Given the description of an element on the screen output the (x, y) to click on. 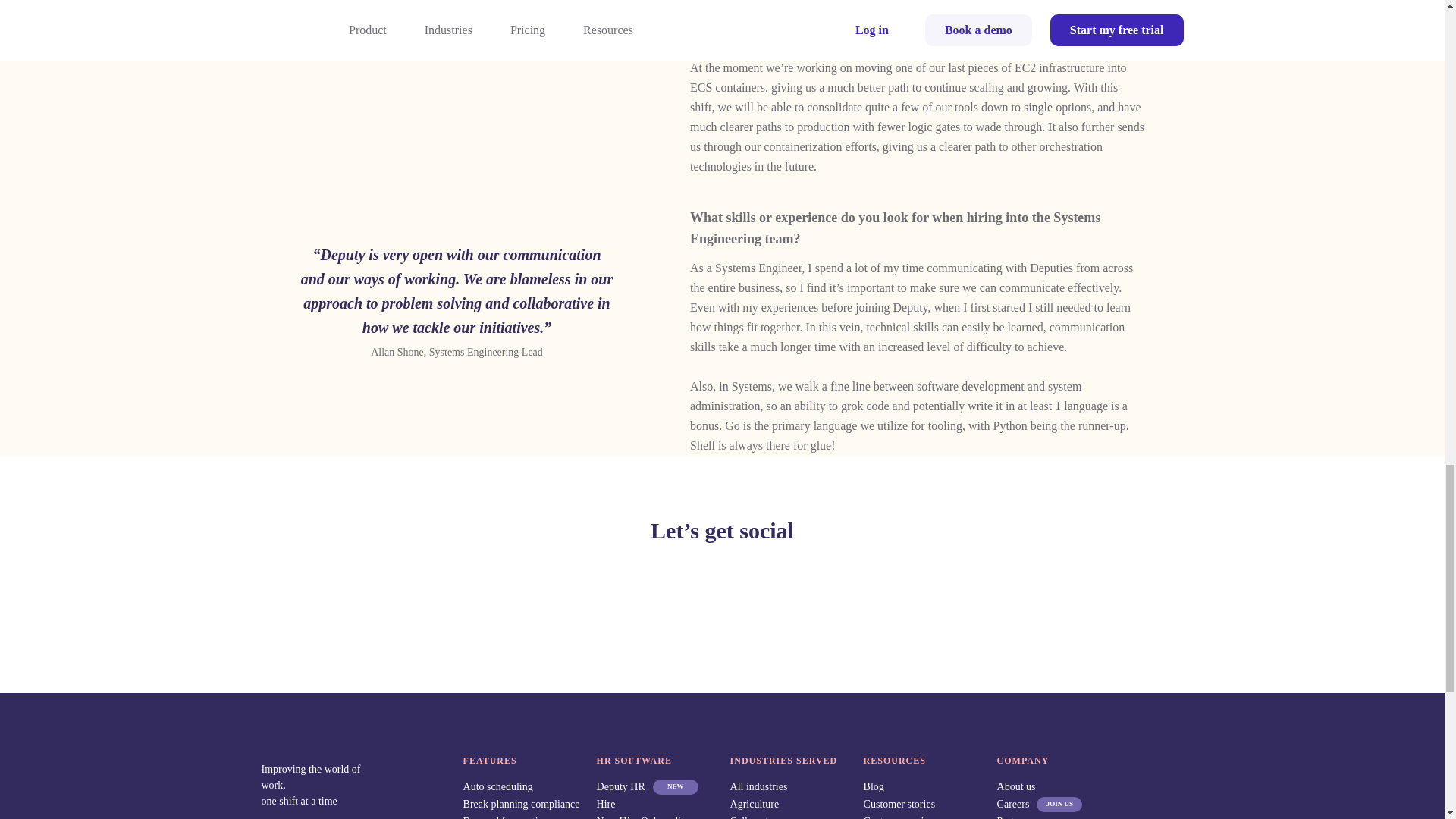
Break planning compliance (521, 803)
Youtube (827, 583)
Linkedin (774, 583)
Demand forecasting (505, 817)
Facebook (615, 583)
Auto scheduling (497, 786)
Twitter (721, 583)
Instagram (668, 583)
